Given the description of an element on the screen output the (x, y) to click on. 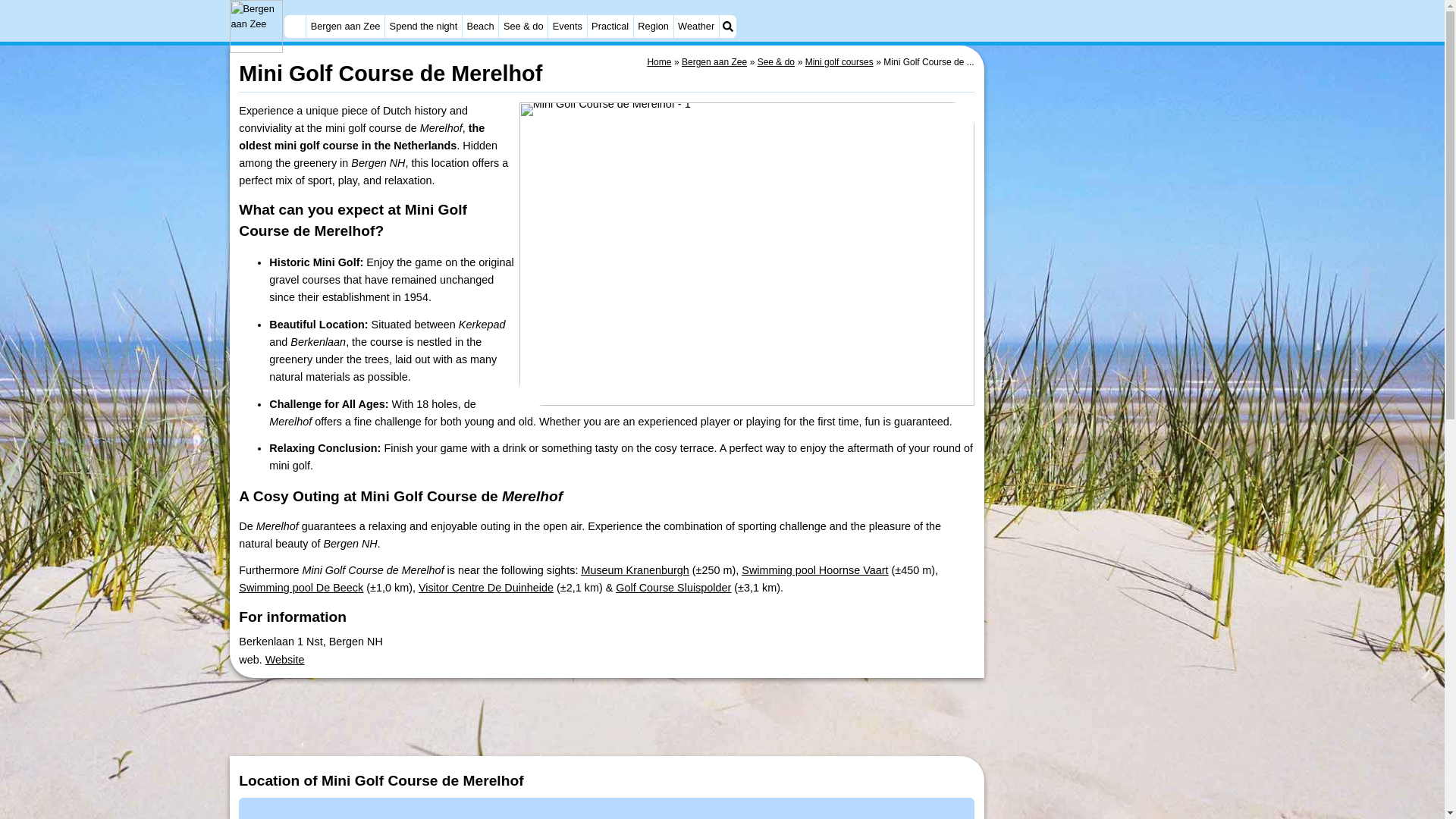
Beach (480, 26)
Spend the night (423, 26)
Bergen aan Zee (344, 26)
Practical (608, 26)
Region (652, 26)
Events (567, 26)
